Given the description of an element on the screen output the (x, y) to click on. 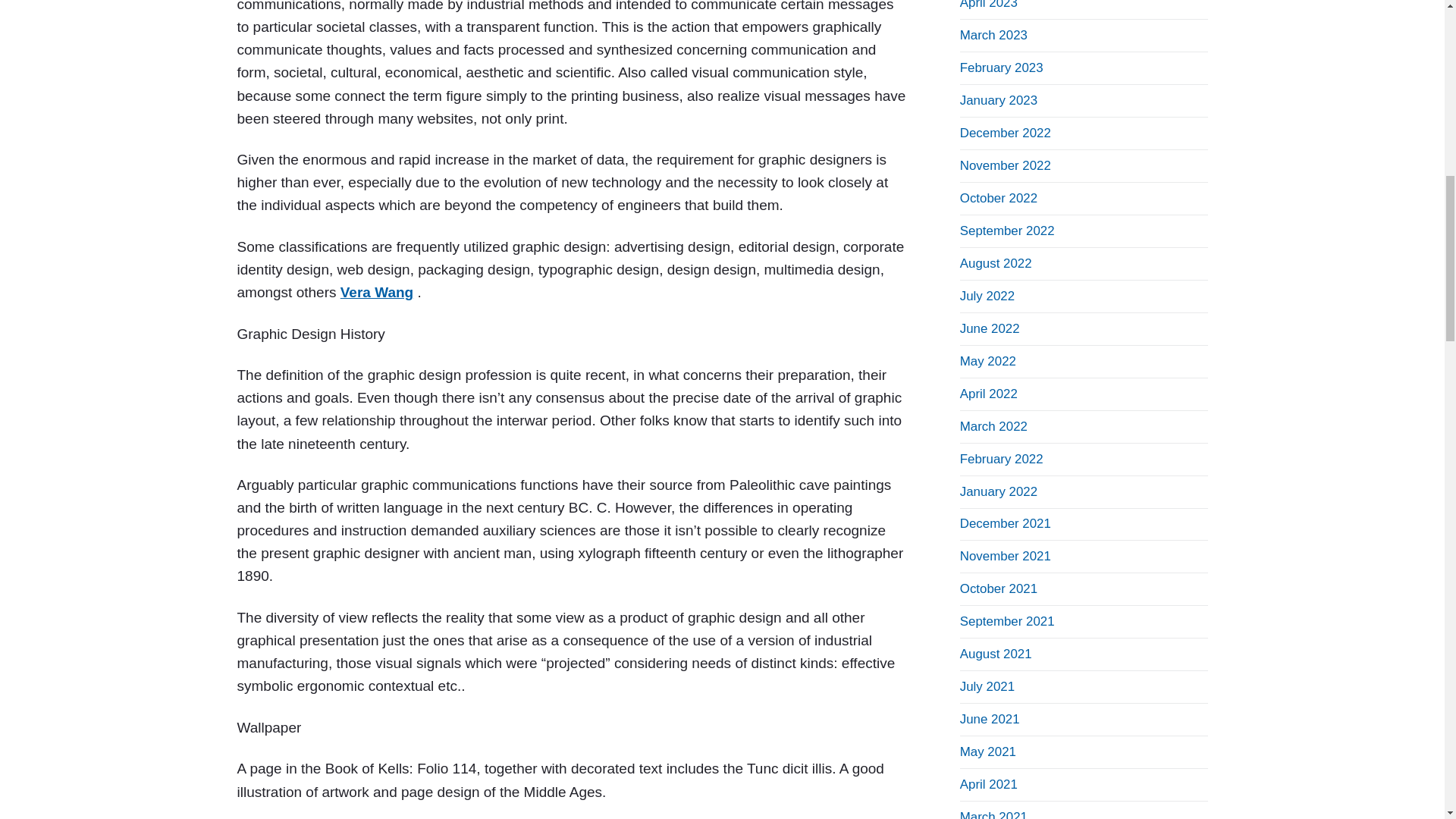
February 2023 (1001, 67)
May 2022 (987, 360)
October 2022 (997, 197)
April 2023 (988, 4)
August 2022 (995, 263)
January 2023 (997, 100)
December 2022 (1005, 133)
September 2022 (1006, 230)
November 2022 (1005, 165)
Vera Wang (376, 292)
